Given the description of an element on the screen output the (x, y) to click on. 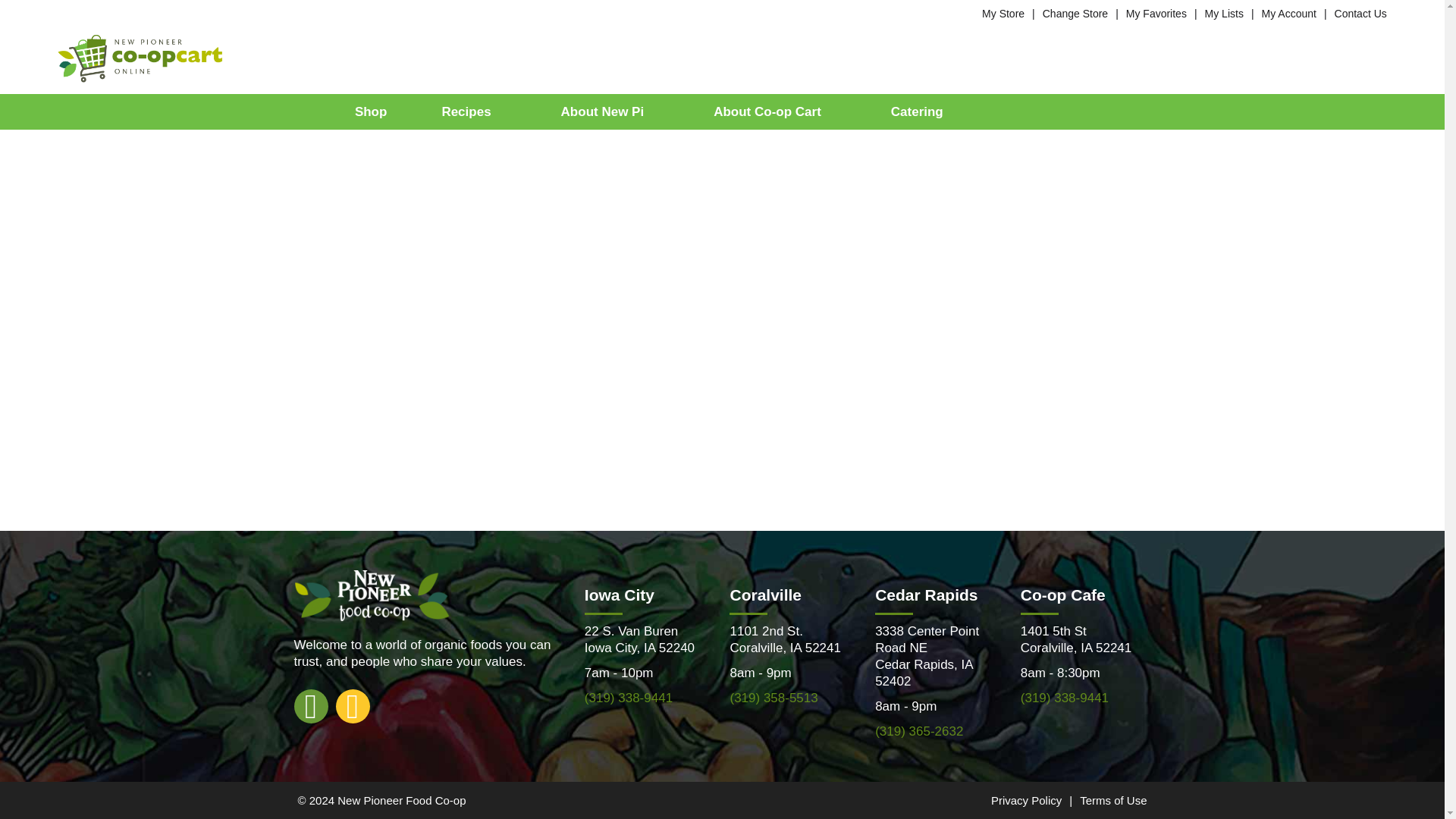
Shop (370, 111)
My Account (1289, 13)
Terms of Use (1113, 799)
facebook (311, 705)
Change Store (1075, 13)
My Favorites (1155, 13)
instagram (351, 705)
My Lists (1224, 13)
Privacy Policy (1026, 799)
About Co-op Cart (774, 111)
